Given the description of an element on the screen output the (x, y) to click on. 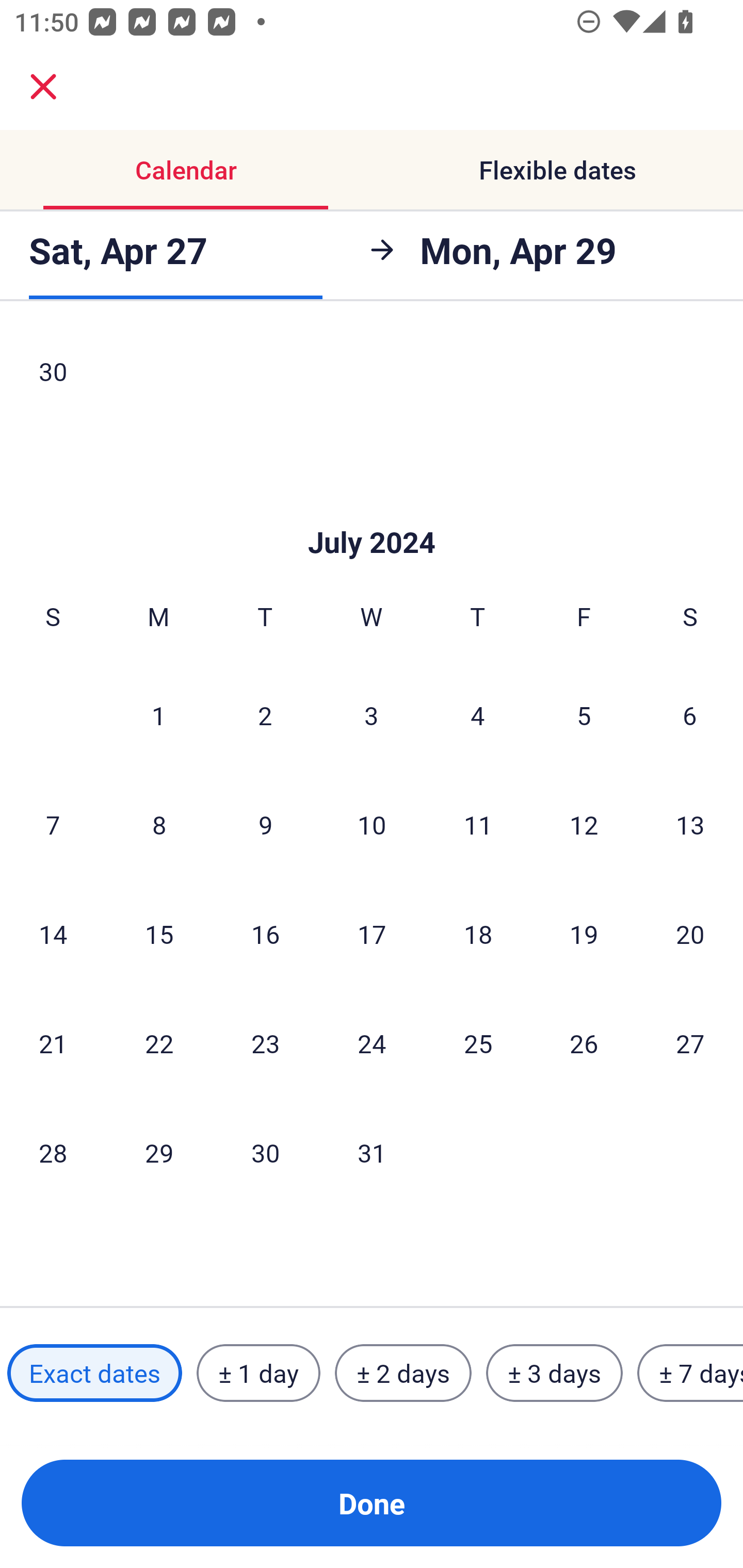
close. (43, 86)
Flexible dates (557, 170)
30 Sunday, June 30, 2024 (53, 376)
Skip to Done (371, 511)
1 Monday, July 1, 2024 (158, 714)
2 Tuesday, July 2, 2024 (264, 714)
3 Wednesday, July 3, 2024 (371, 714)
4 Thursday, July 4, 2024 (477, 714)
5 Friday, July 5, 2024 (583, 714)
6 Saturday, July 6, 2024 (689, 714)
7 Sunday, July 7, 2024 (53, 824)
8 Monday, July 8, 2024 (159, 824)
9 Tuesday, July 9, 2024 (265, 824)
10 Wednesday, July 10, 2024 (371, 824)
11 Thursday, July 11, 2024 (477, 824)
12 Friday, July 12, 2024 (584, 824)
13 Saturday, July 13, 2024 (690, 824)
14 Sunday, July 14, 2024 (53, 933)
15 Monday, July 15, 2024 (159, 933)
16 Tuesday, July 16, 2024 (265, 933)
17 Wednesday, July 17, 2024 (371, 933)
18 Thursday, July 18, 2024 (477, 933)
19 Friday, July 19, 2024 (584, 933)
20 Saturday, July 20, 2024 (690, 933)
21 Sunday, July 21, 2024 (53, 1043)
22 Monday, July 22, 2024 (159, 1043)
23 Tuesday, July 23, 2024 (265, 1043)
24 Wednesday, July 24, 2024 (371, 1043)
25 Thursday, July 25, 2024 (477, 1043)
26 Friday, July 26, 2024 (584, 1043)
27 Saturday, July 27, 2024 (690, 1043)
28 Sunday, July 28, 2024 (53, 1152)
29 Monday, July 29, 2024 (159, 1152)
30 Tuesday, July 30, 2024 (265, 1152)
31 Wednesday, July 31, 2024 (371, 1152)
Exact dates (94, 1372)
± 1 day (258, 1372)
± 2 days (403, 1372)
± 3 days (553, 1372)
± 7 days (690, 1372)
Done (371, 1502)
